Given the description of an element on the screen output the (x, y) to click on. 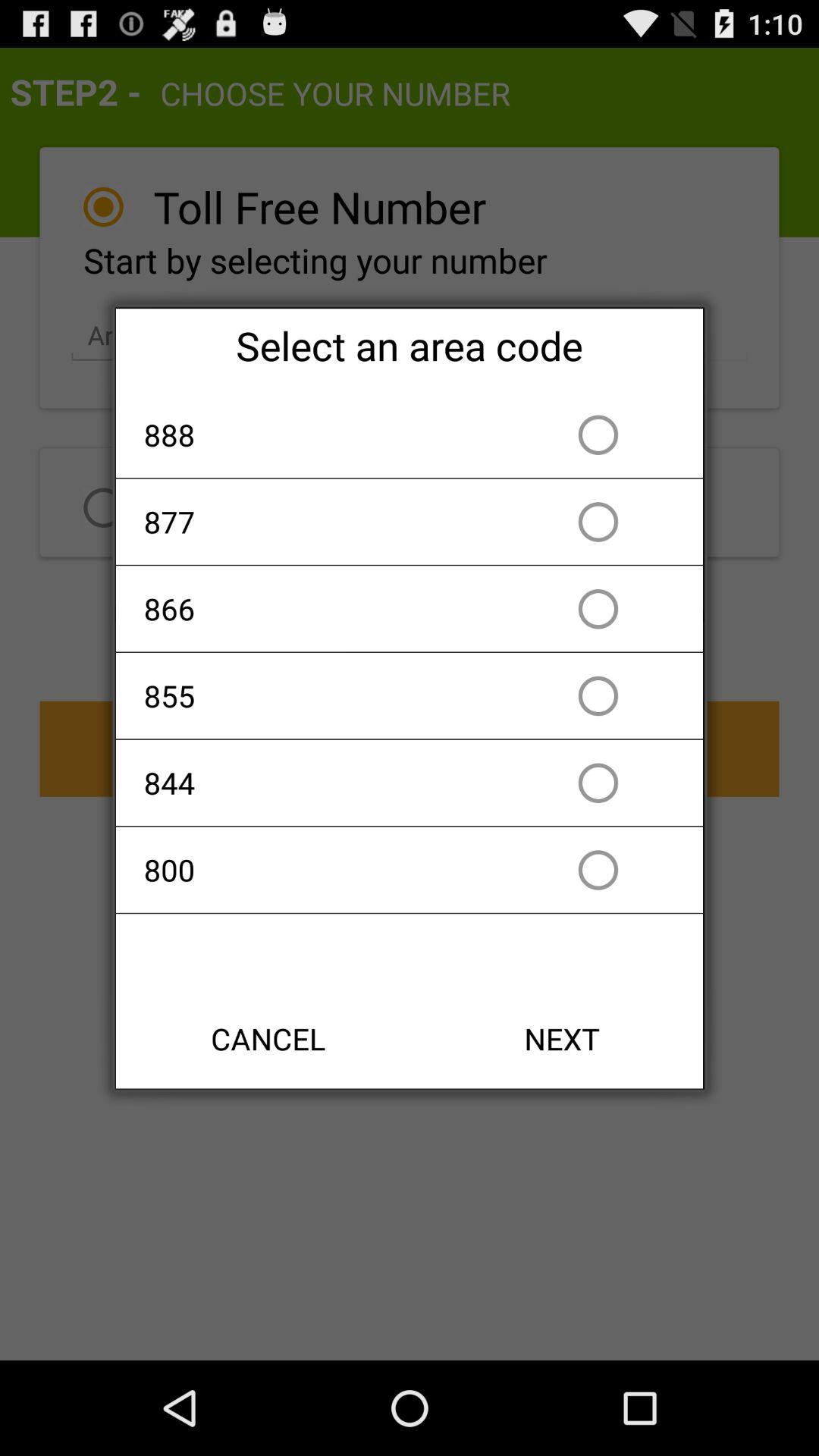
select item above the 800 app (322, 782)
